Given the description of an element on the screen output the (x, y) to click on. 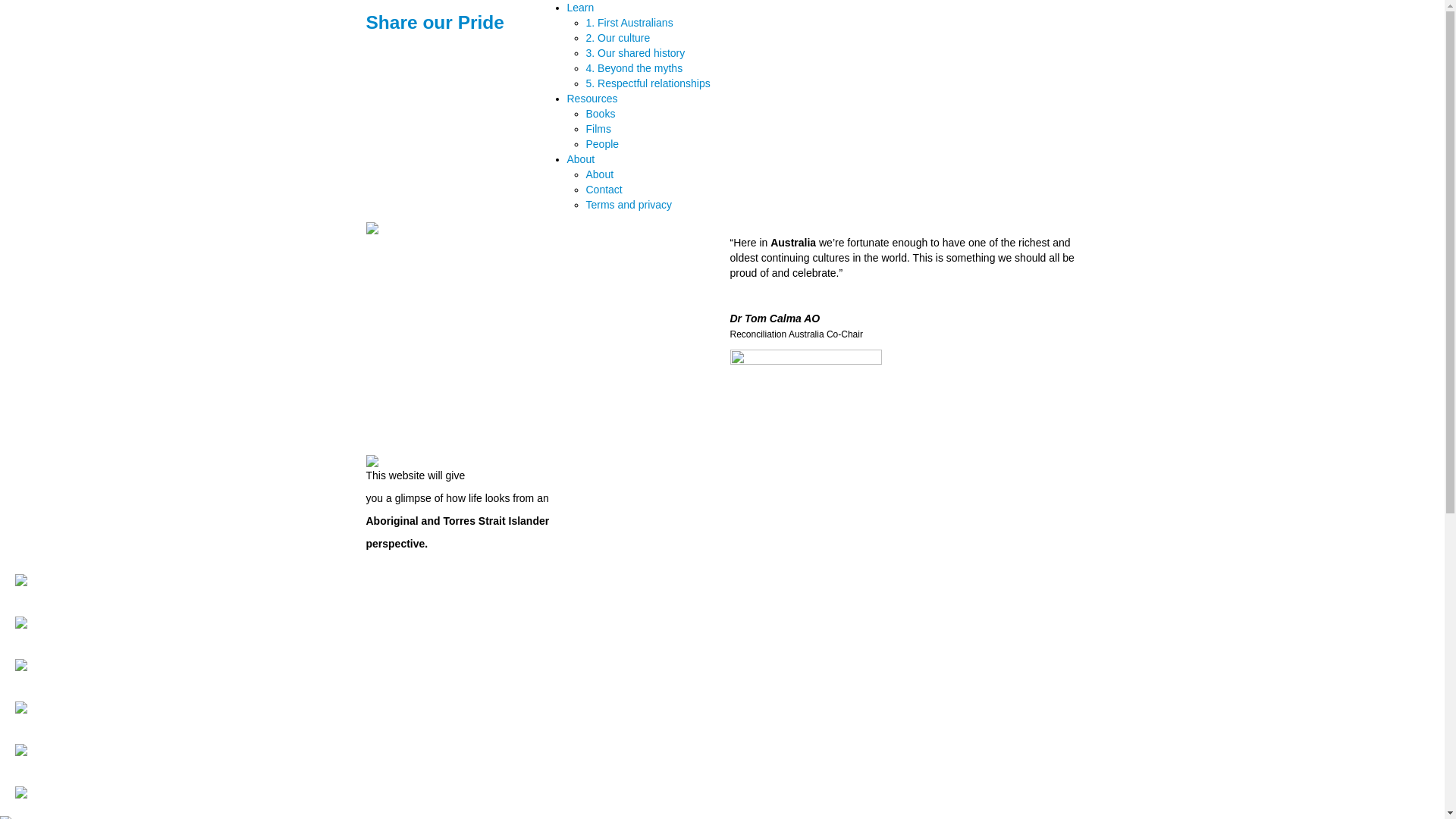
Terms and privacy Element type: text (628, 204)
People Element type: text (601, 144)
Share our Pride Element type: text (434, 22)
Books Element type: text (600, 113)
Learn Element type: text (580, 7)
Films Element type: text (597, 128)
1. First Australians Element type: text (628, 22)
4. Beyond the myths Element type: text (633, 68)
RA_logo Element type: hover (805, 397)
About Element type: text (599, 174)
Contact Element type: text (603, 189)
2. Our culture Element type: text (617, 37)
Resources Element type: text (592, 98)
3. Our shared history Element type: text (634, 53)
5. Respectful relationships Element type: text (647, 83)
About Element type: text (581, 159)
